Given the description of an element on the screen output the (x, y) to click on. 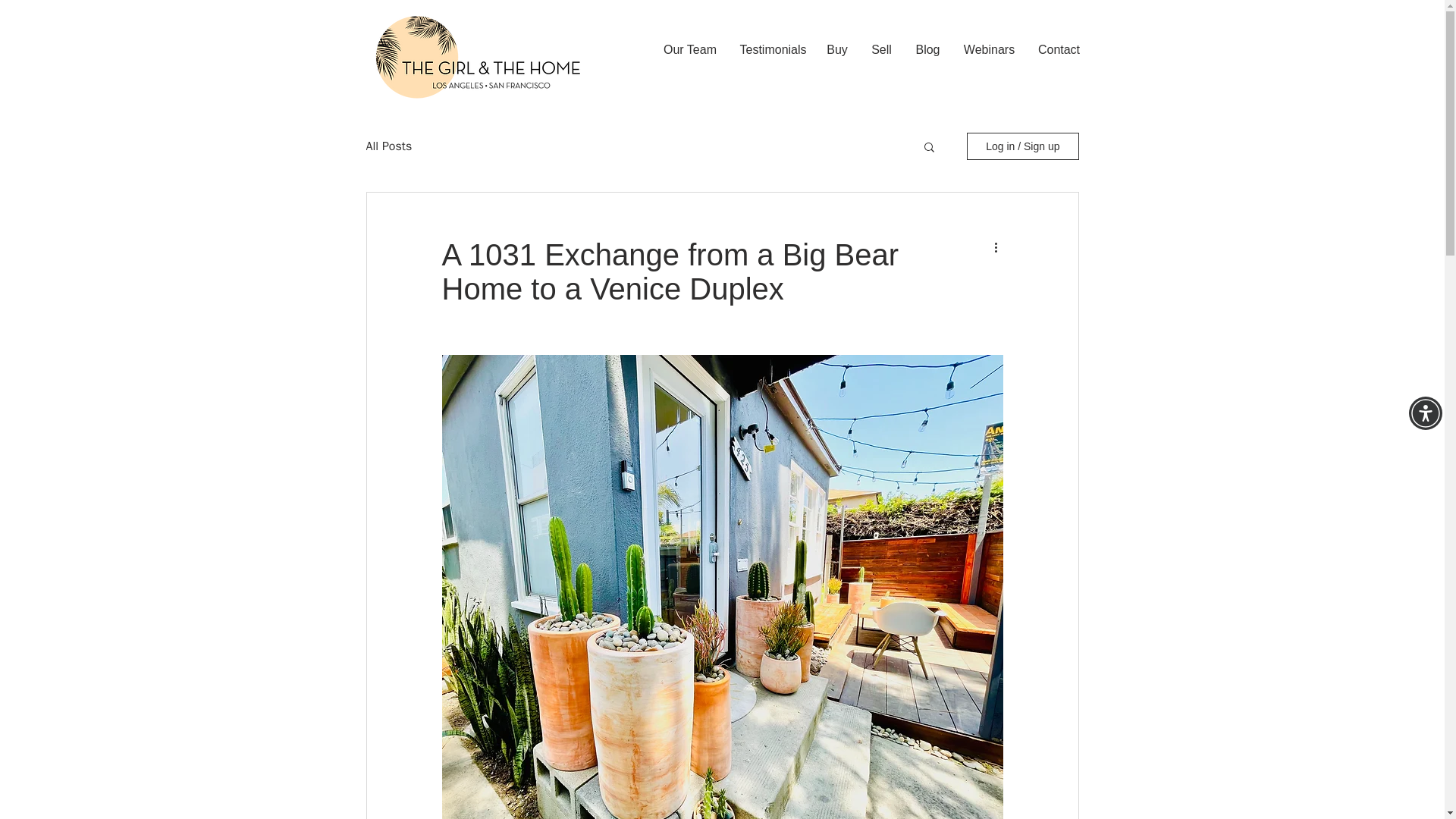
Blog (928, 49)
Our Team (690, 49)
All Posts (388, 145)
Accessibility Menu (1425, 412)
Testimonials (770, 49)
Contact (1059, 49)
Sell (882, 49)
Buy (836, 49)
Webinars (989, 49)
